Given the description of an element on the screen output the (x, y) to click on. 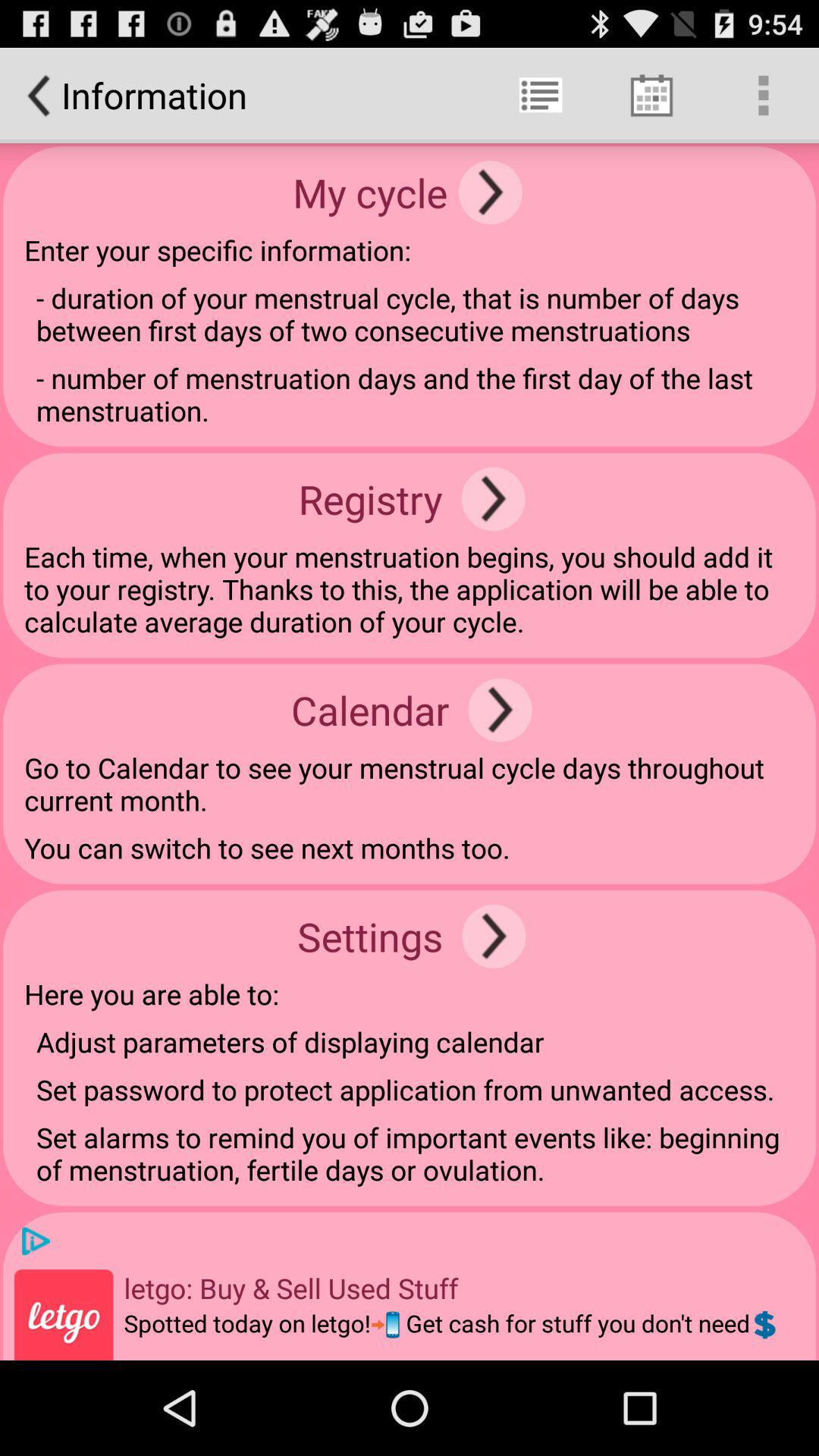
press app below the number of menstruation app (493, 499)
